Given the description of an element on the screen output the (x, y) to click on. 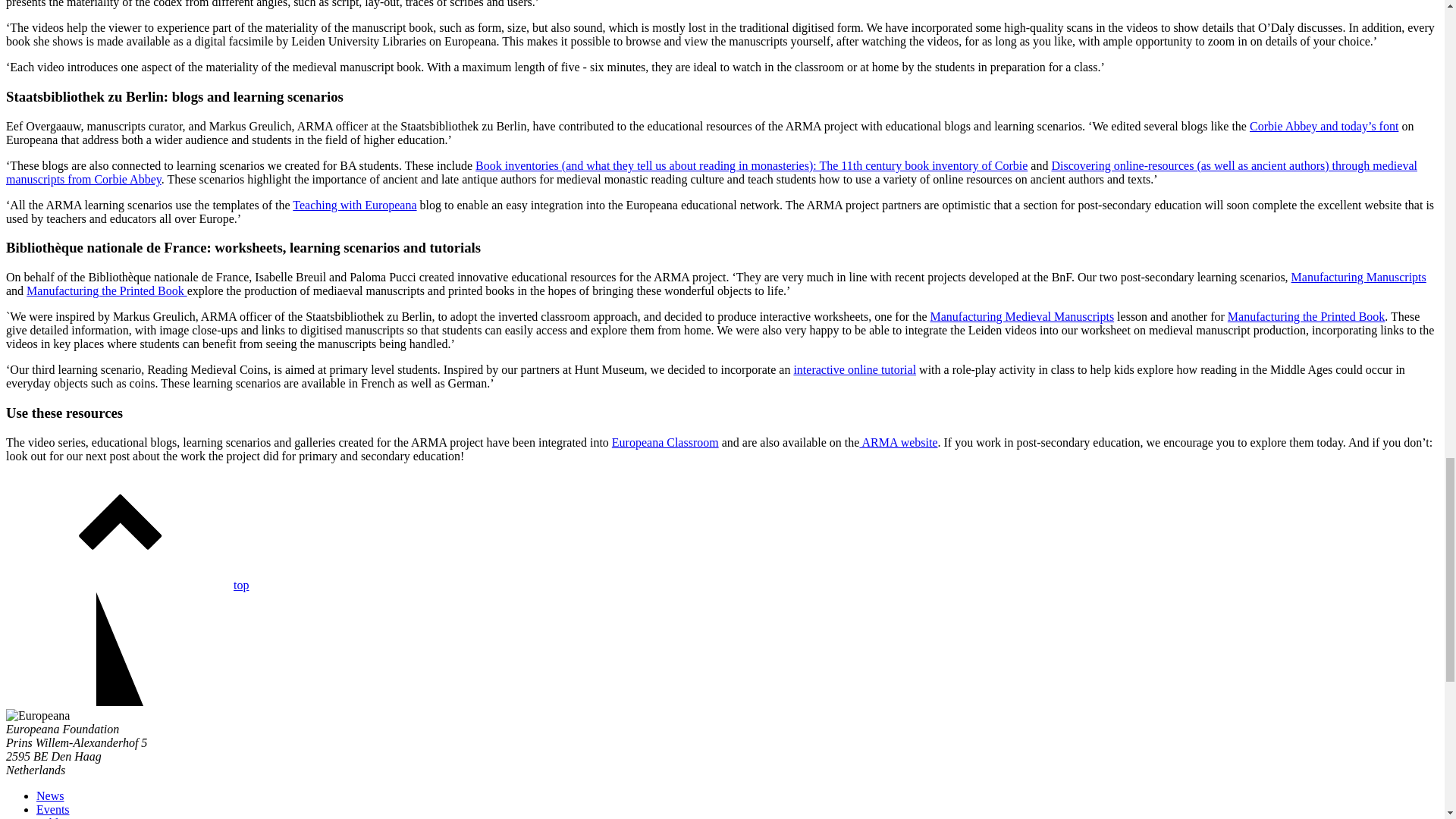
Teaching with Europeana (354, 205)
Europeana Classroom (665, 441)
ARMA website (898, 441)
Manufacturing Manuscripts (1358, 277)
Events (52, 809)
Manufacturing Medieval Manuscripts (1021, 316)
Manufacturing the Printed Book (1306, 316)
Events (52, 809)
Publications (66, 817)
top (126, 584)
